Given the description of an element on the screen output the (x, y) to click on. 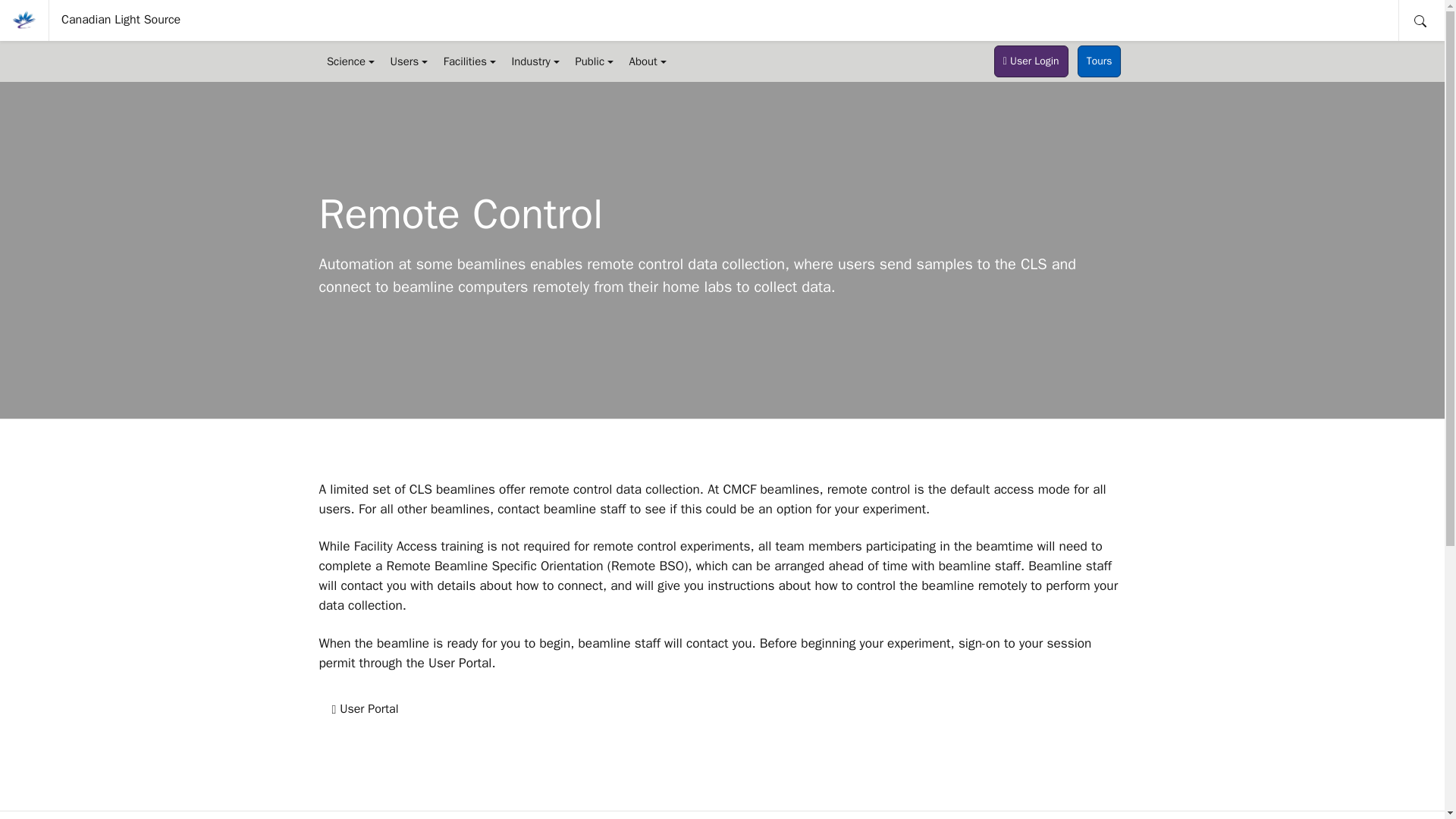
Science (349, 60)
Facilities (469, 60)
Canadian Light Source (120, 20)
Public (594, 60)
Industry (535, 60)
Users (408, 60)
